Given the description of an element on the screen output the (x, y) to click on. 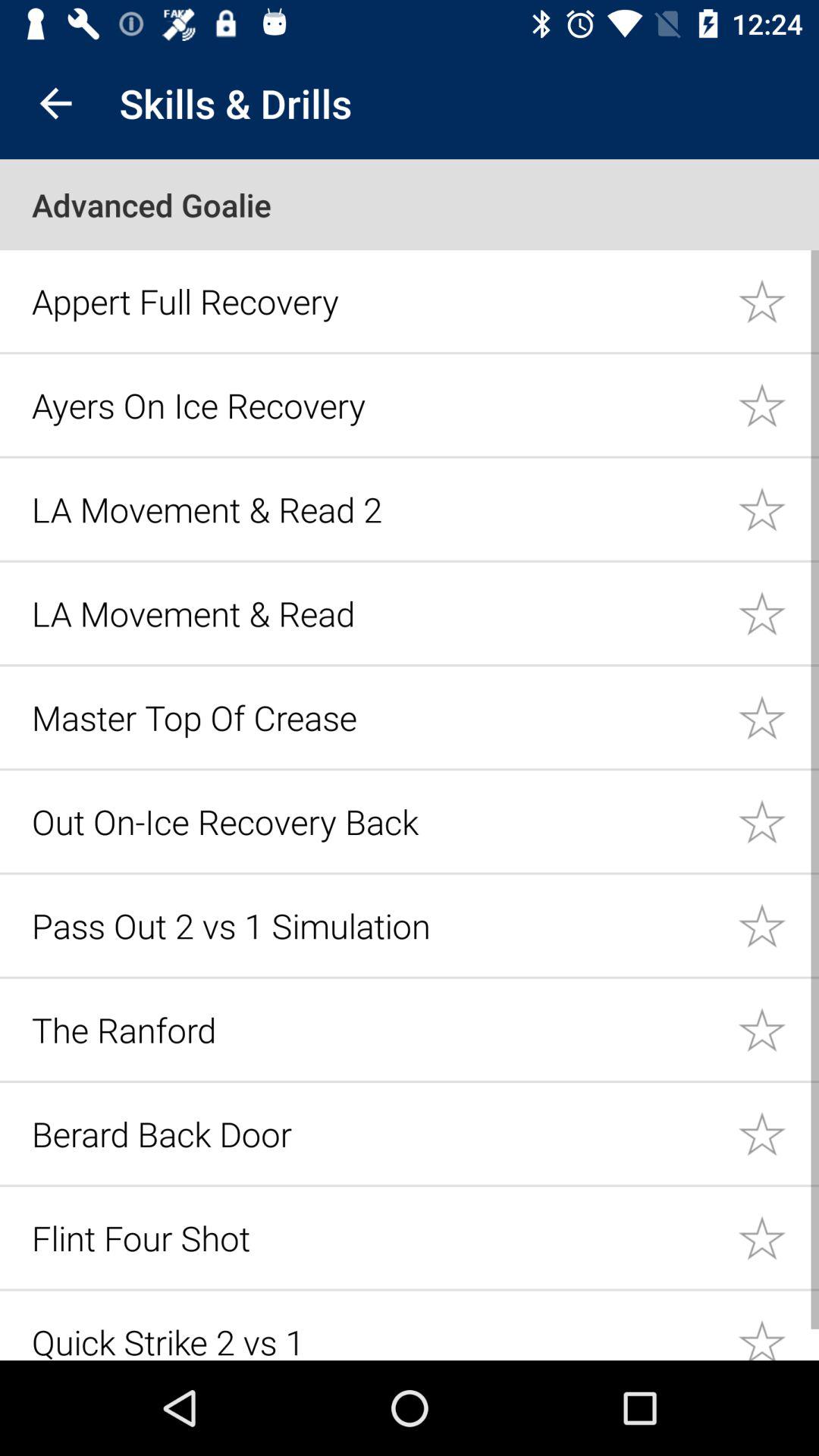
set as favorite (778, 1237)
